Given the description of an element on the screen output the (x, y) to click on. 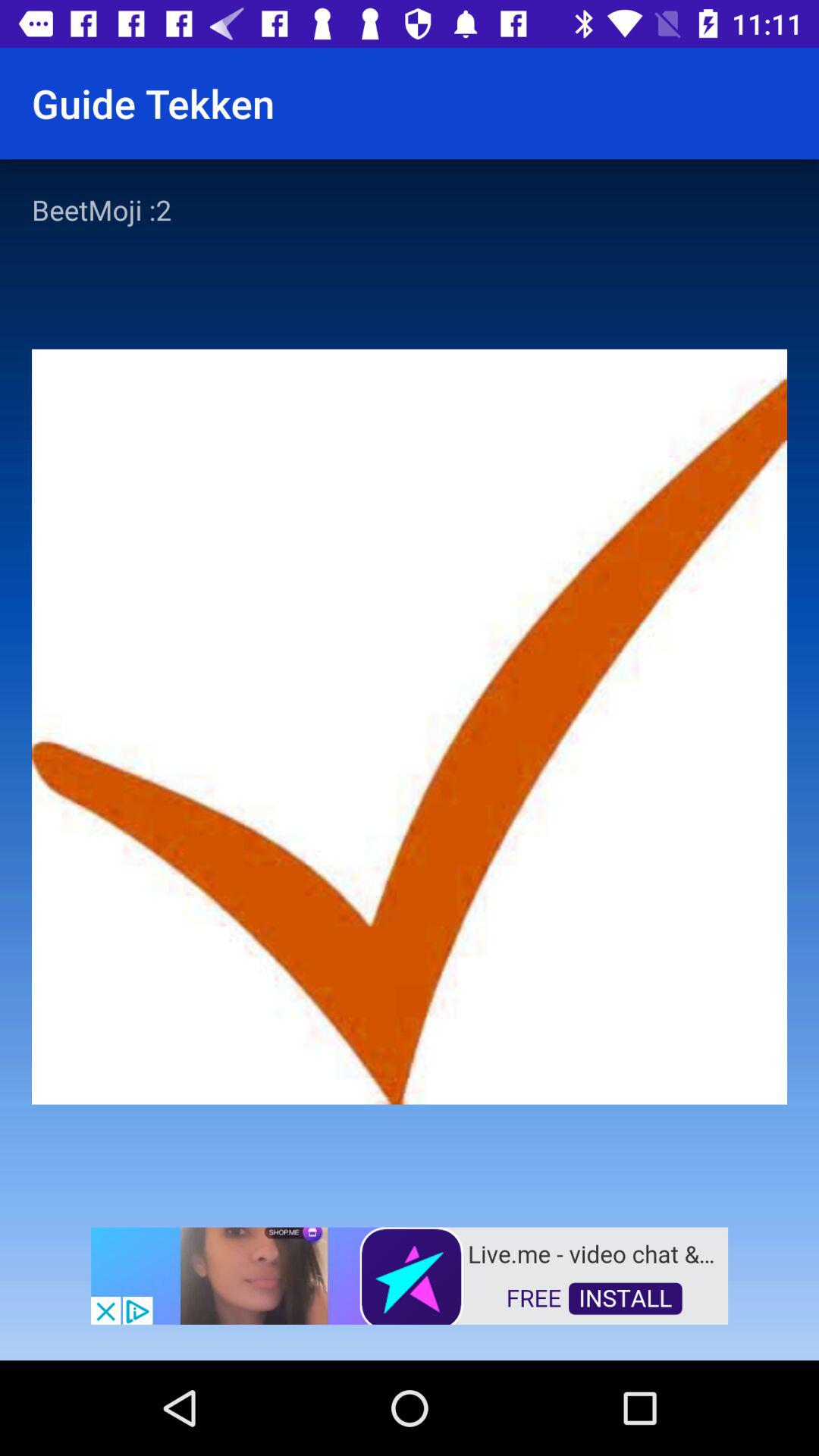
advertisement (409, 1274)
